Given the description of an element on the screen output the (x, y) to click on. 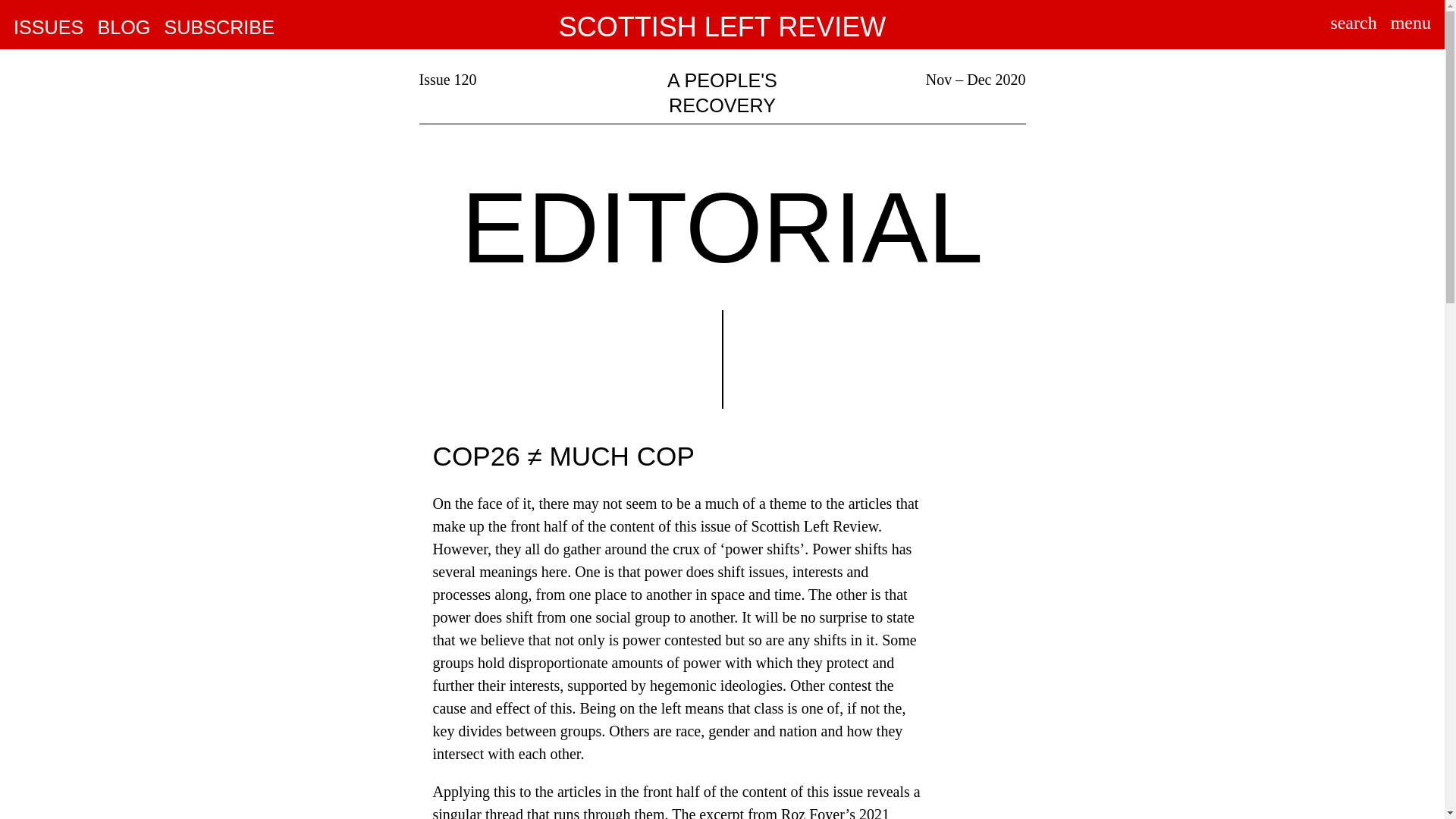
ISSUES (47, 27)
SUBSCRIBE (219, 27)
SCOTTISH LEFT REVIEW (722, 26)
BLOG (123, 27)
